Given the description of an element on the screen output the (x, y) to click on. 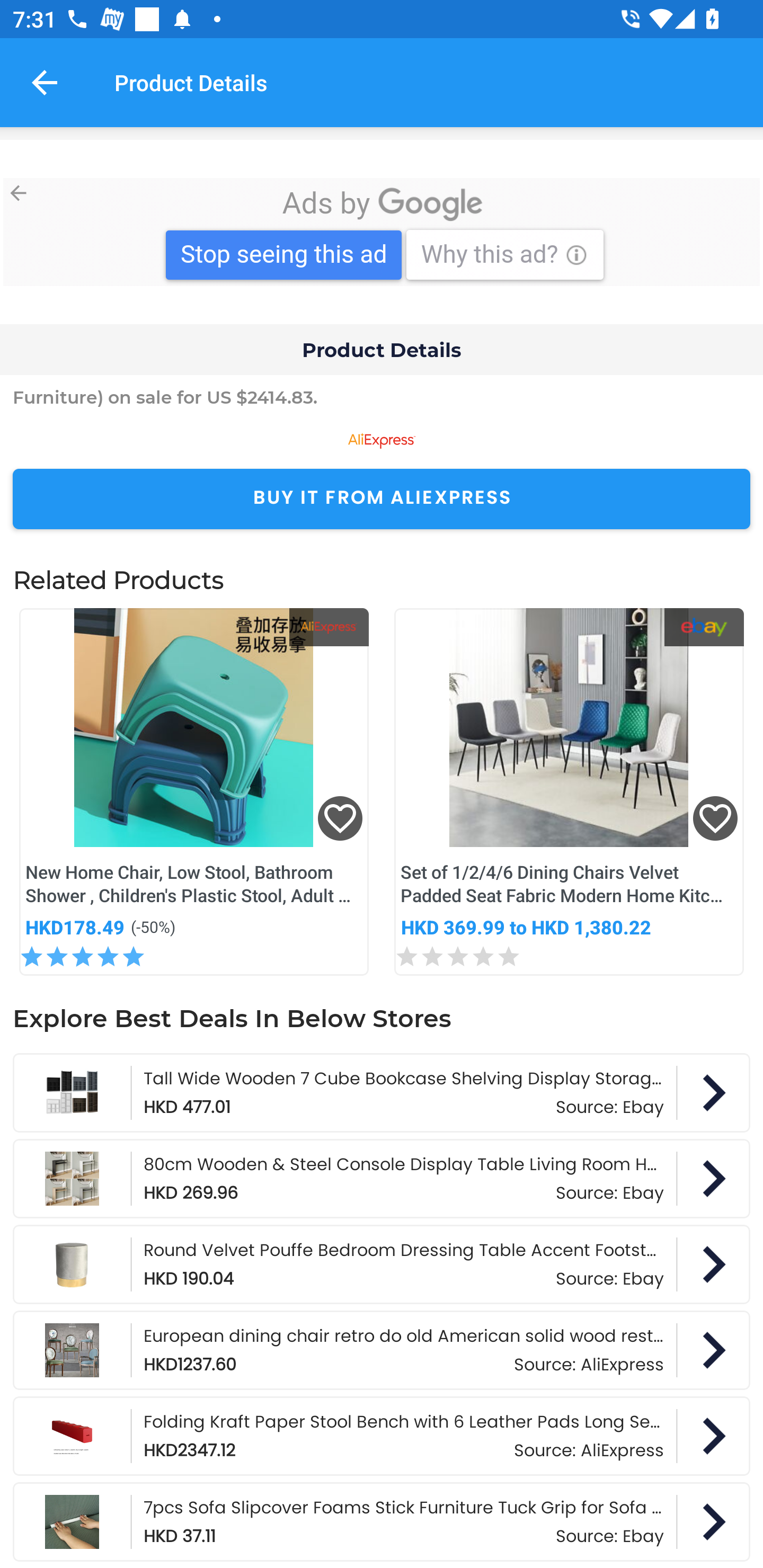
Navigate up (44, 82)
BUY IT FROM ALIEXPRESS (381, 499)
